Given the description of an element on the screen output the (x, y) to click on. 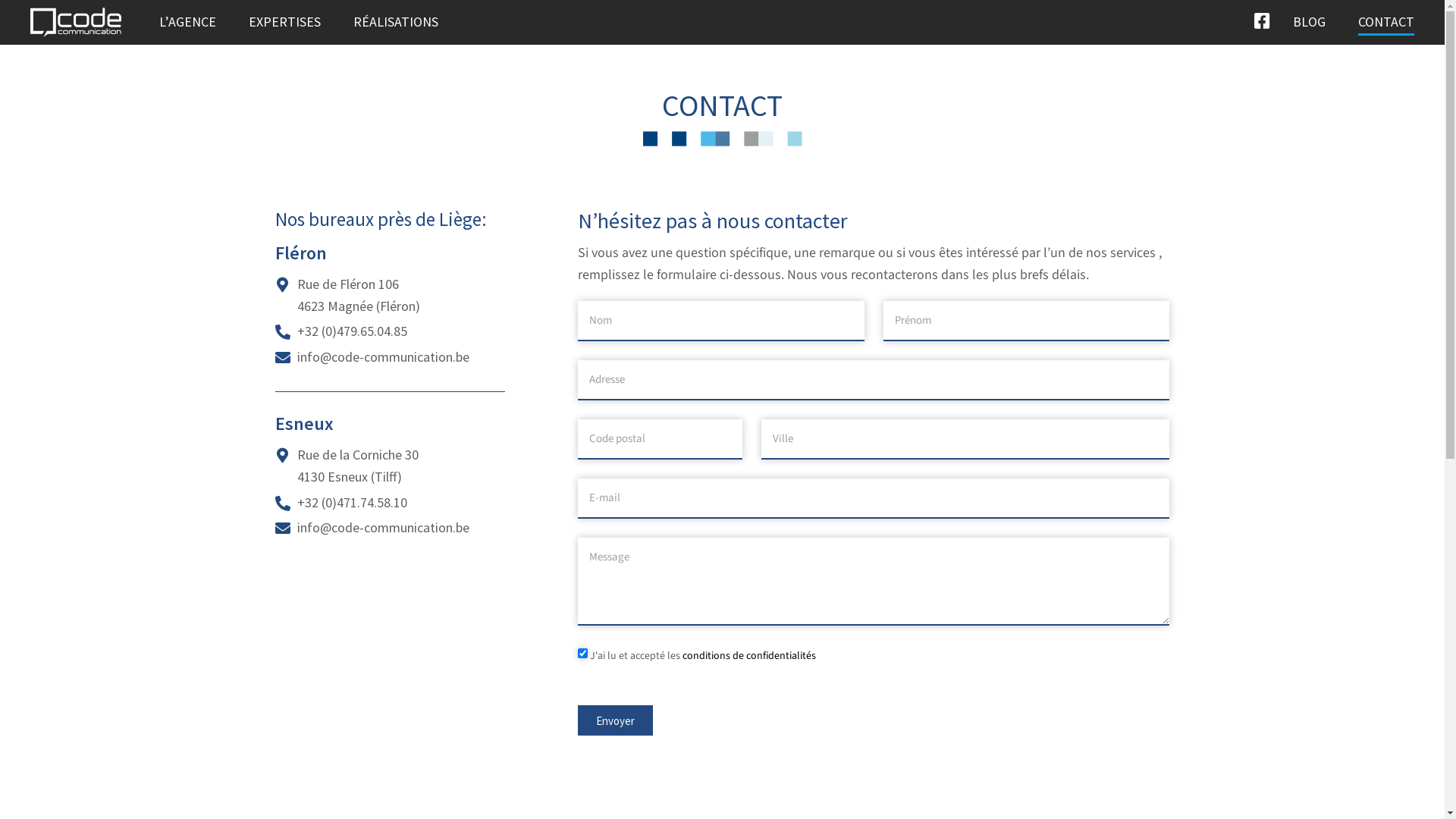
+32 (0)479.65.04.85 Element type: text (352, 330)
CONTACT Element type: text (1386, 21)
BLOG Element type: text (1308, 21)
EXPERTISES Element type: text (284, 21)
info@code-communication.be Element type: text (383, 527)
+32 (0)471.74.58.10 Element type: text (352, 502)
Envoyer Element type: text (614, 720)
info@code-communication.be Element type: text (383, 356)
